Given the description of an element on the screen output the (x, y) to click on. 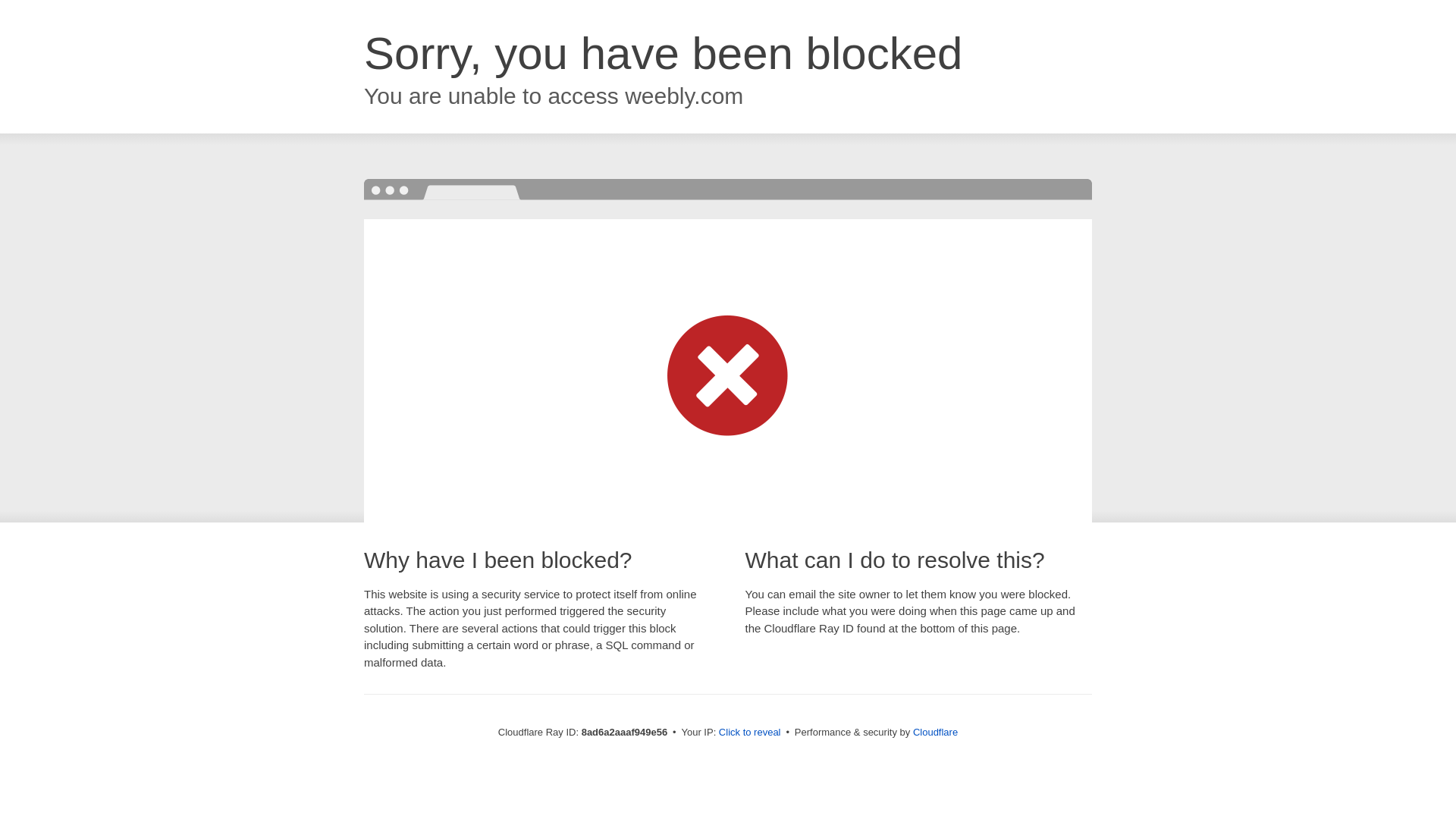
Click to reveal (749, 732)
Cloudflare (935, 731)
